Given the description of an element on the screen output the (x, y) to click on. 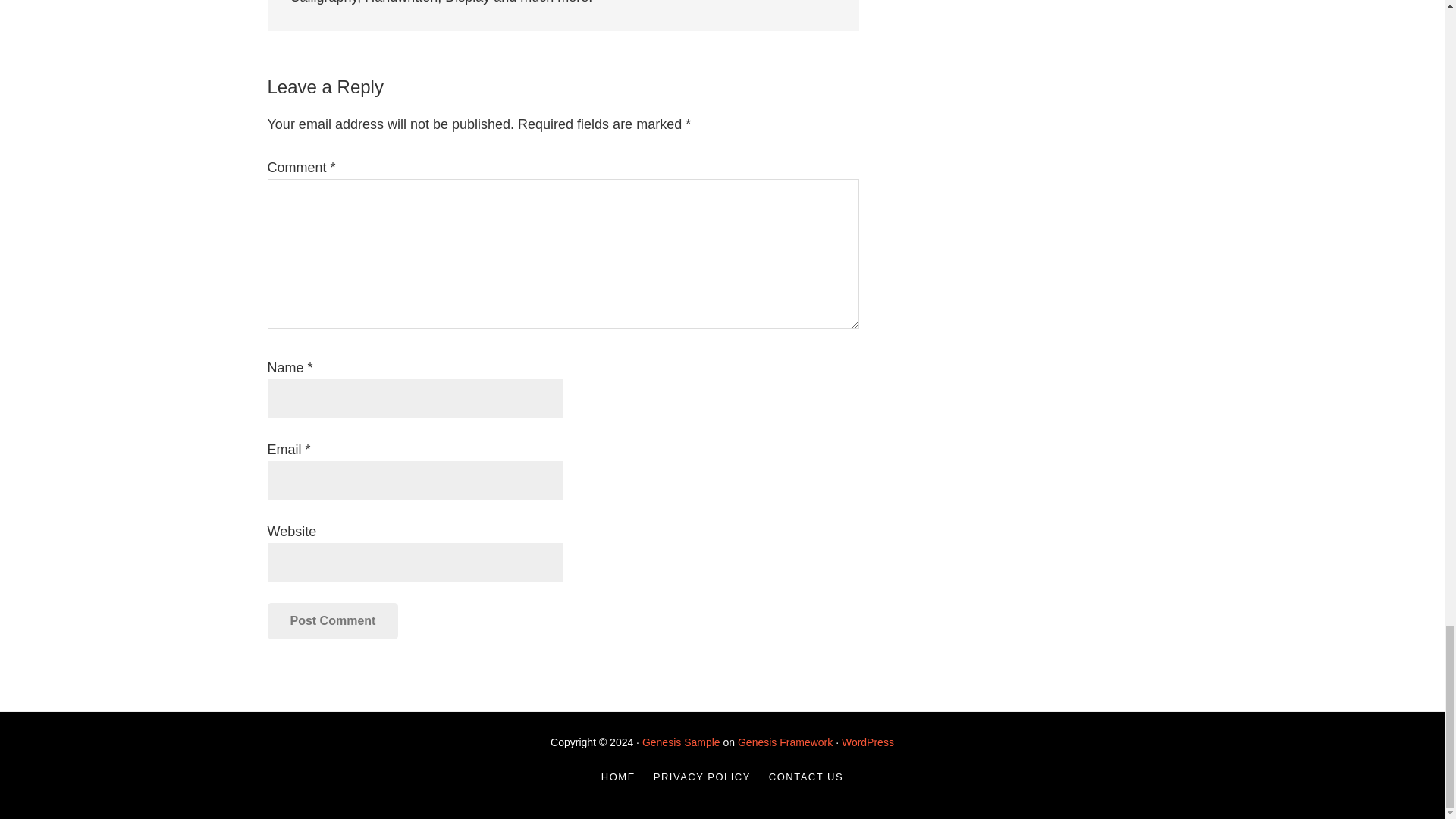
Post Comment (331, 620)
